Given the description of an element on the screen output the (x, y) to click on. 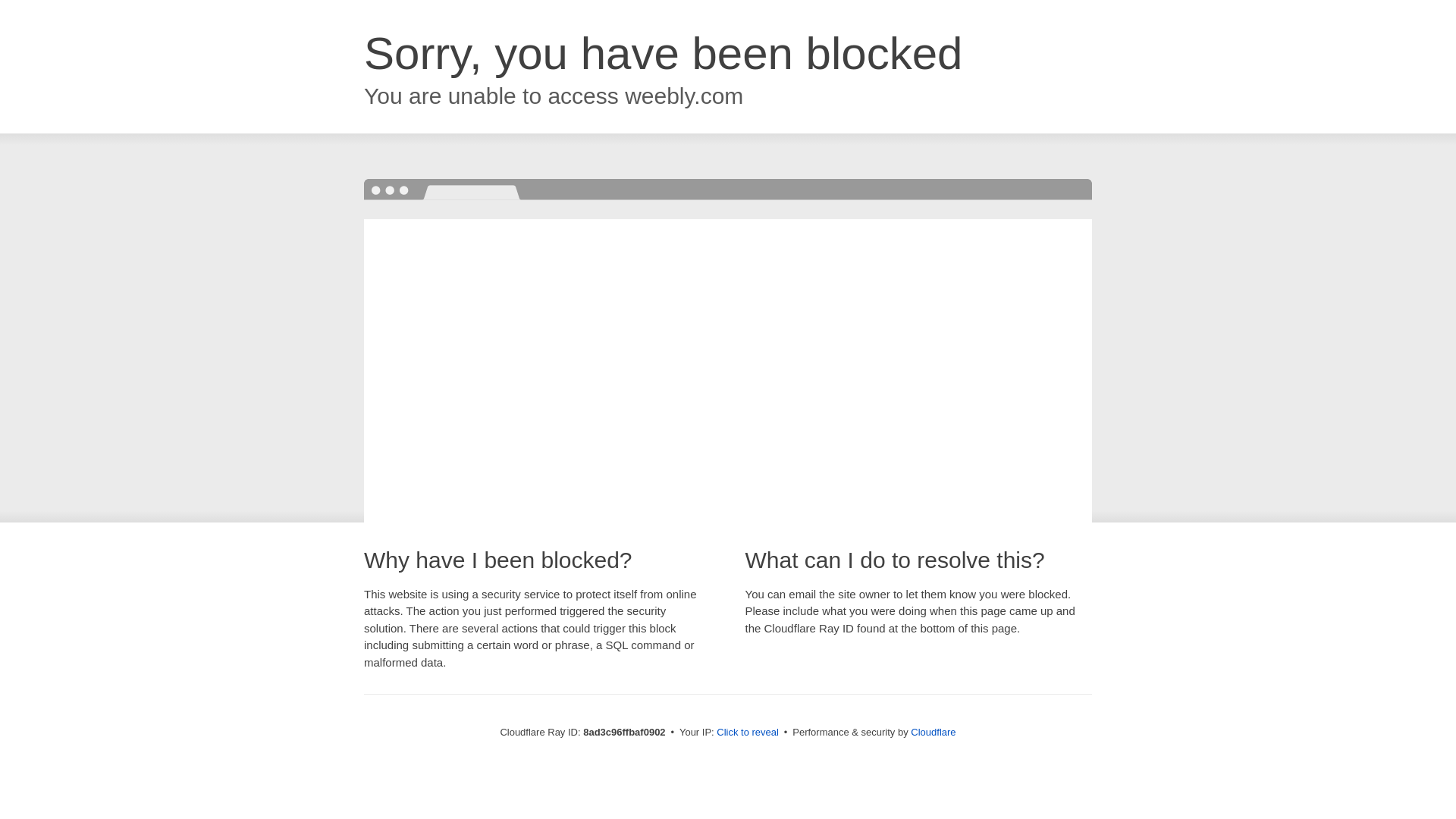
Cloudflare (933, 731)
Click to reveal (747, 732)
